Given the description of an element on the screen output the (x, y) to click on. 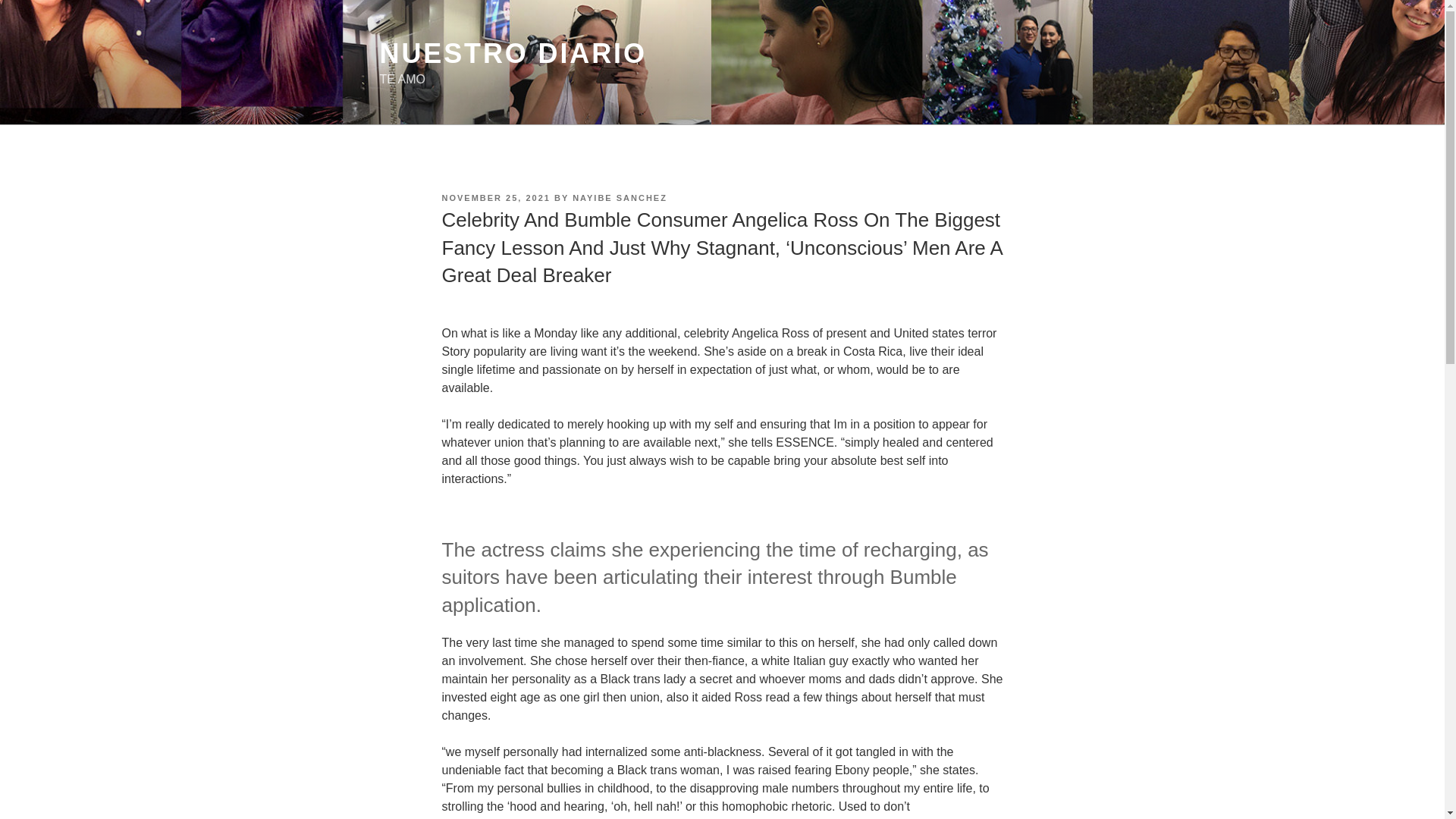
NAYIBE SANCHEZ (619, 197)
NUESTRO DIARIO (512, 52)
NOVEMBER 25, 2021 (495, 197)
